Given the description of an element on the screen output the (x, y) to click on. 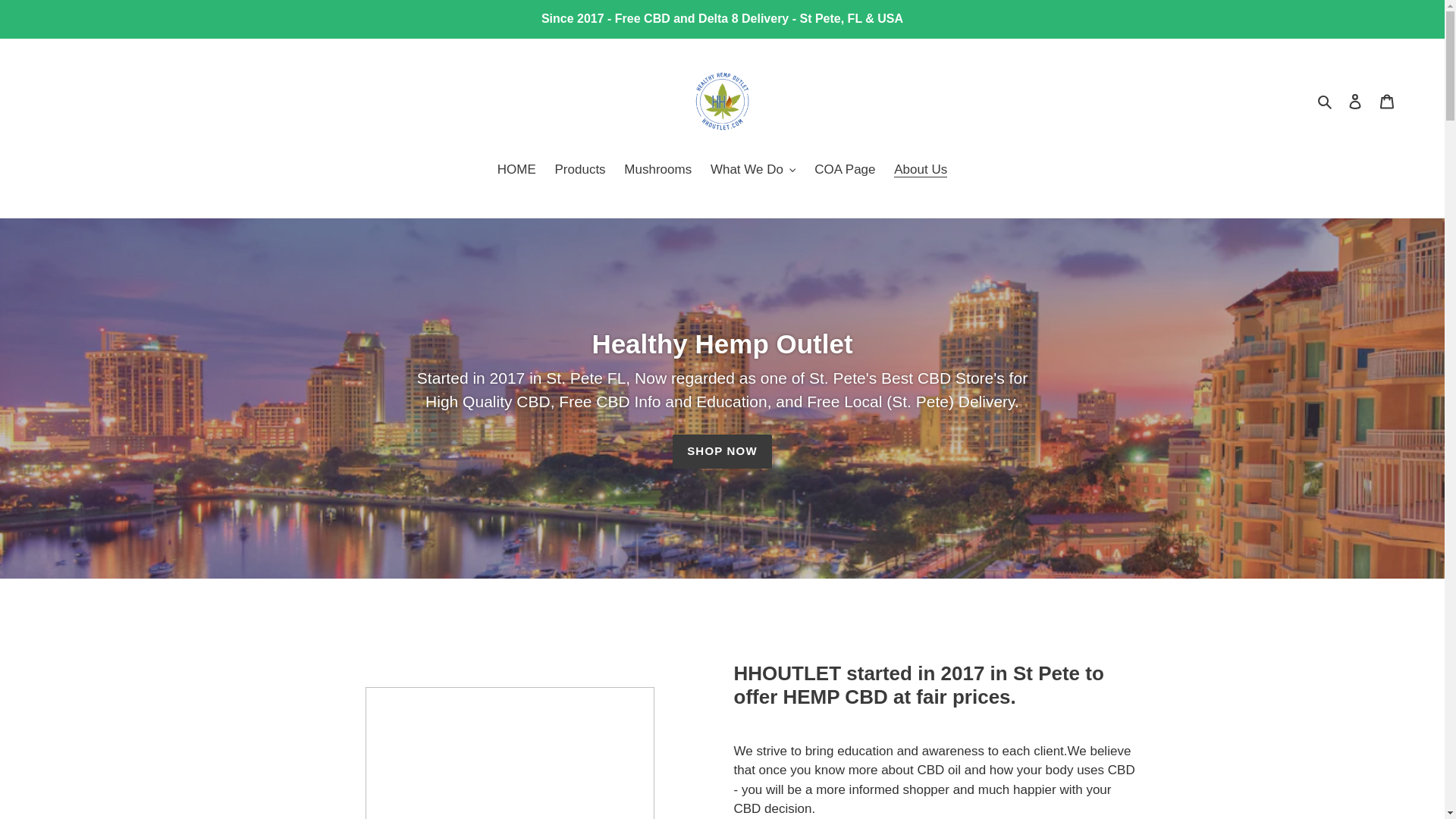
Cart (1387, 101)
HOME (516, 170)
Mushrooms (656, 170)
COA Page (844, 170)
Log in (1355, 101)
SHOP NOW (721, 451)
Search (1326, 101)
About Us (920, 170)
What We Do (753, 170)
Products (579, 170)
